Given the description of an element on the screen output the (x, y) to click on. 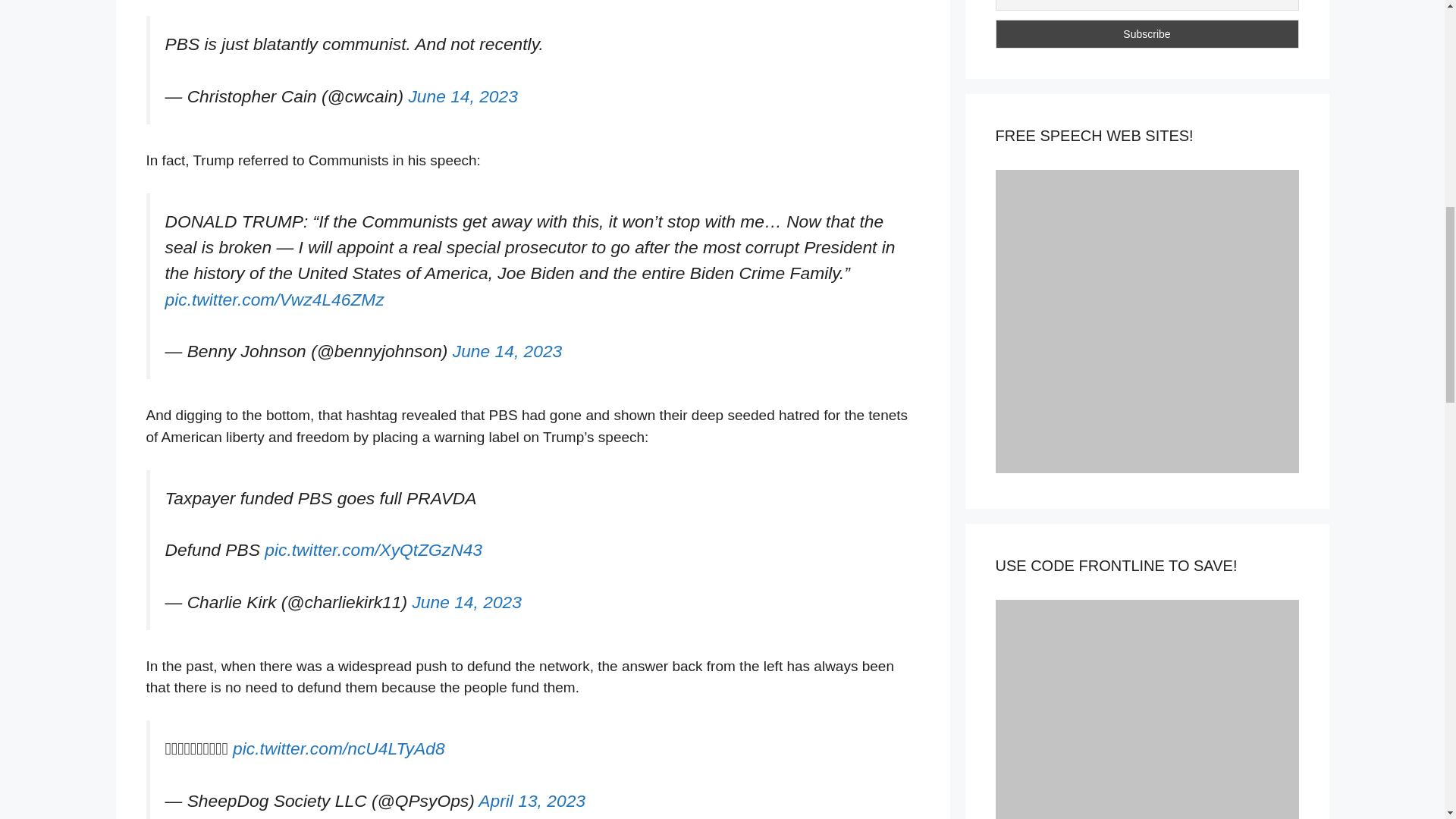
June 14, 2023 (466, 600)
Subscribe (1146, 33)
June 14, 2023 (507, 351)
April 13, 2023 (532, 800)
June 14, 2023 (462, 96)
